Given the description of an element on the screen output the (x, y) to click on. 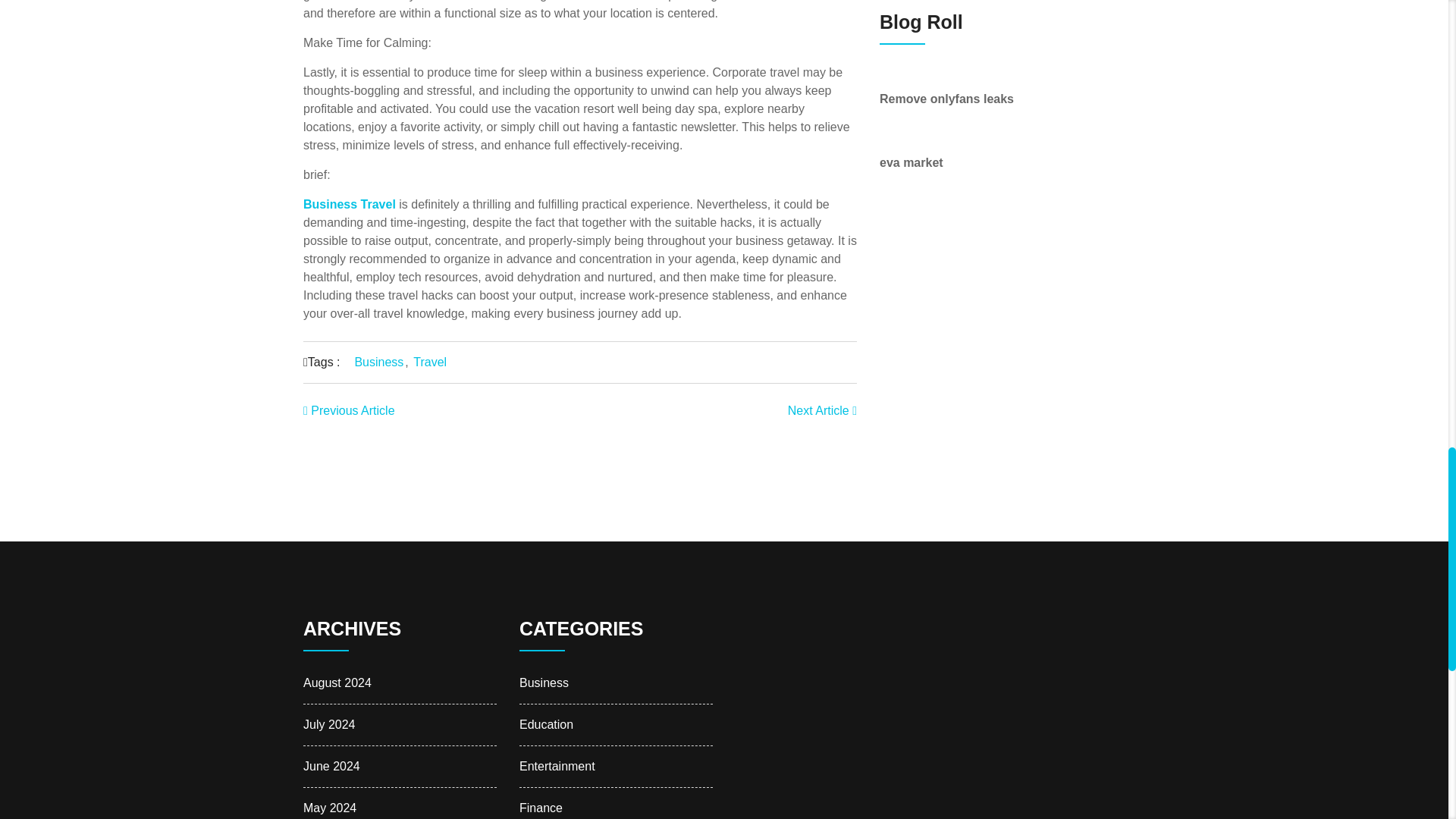
Previous Article (348, 410)
Business (378, 361)
Business Travel (349, 204)
Remove onlyfans leaks (946, 98)
eva market (911, 162)
August 2024 (336, 682)
Travel (429, 361)
Next Article (822, 410)
